Given the description of an element on the screen output the (x, y) to click on. 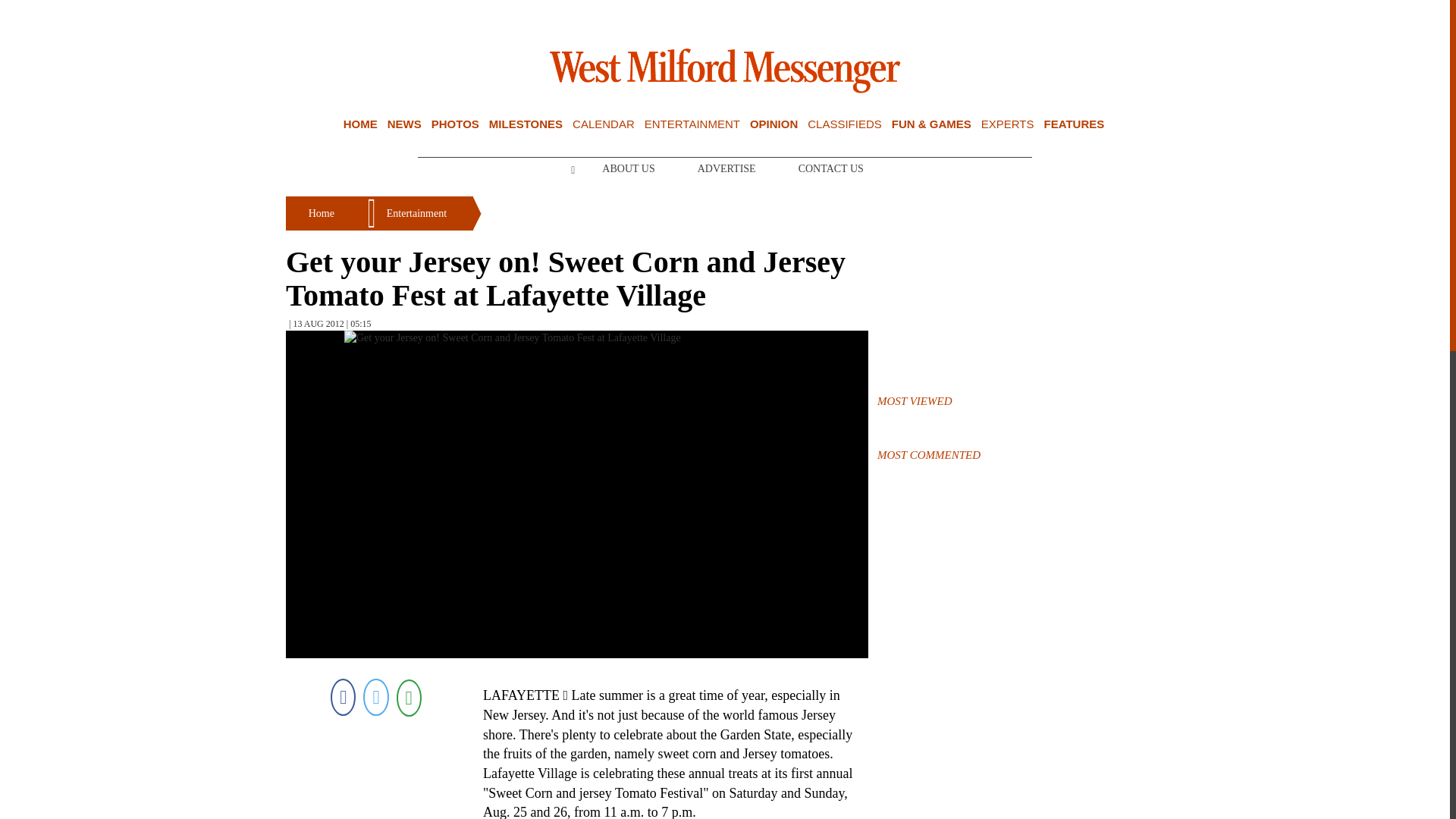
Photos (454, 123)
MILESTONES (525, 123)
NEWS (404, 123)
News (404, 123)
FEATURES (1074, 123)
HOME (360, 123)
CALENDAR (603, 123)
CLASSIFIEDS (845, 123)
Milestones (525, 123)
PHOTOS (454, 123)
Home (360, 123)
OPINION (773, 123)
ENTERTAINMENT (692, 123)
EXPERTS (1007, 123)
